Given the description of an element on the screen output the (x, y) to click on. 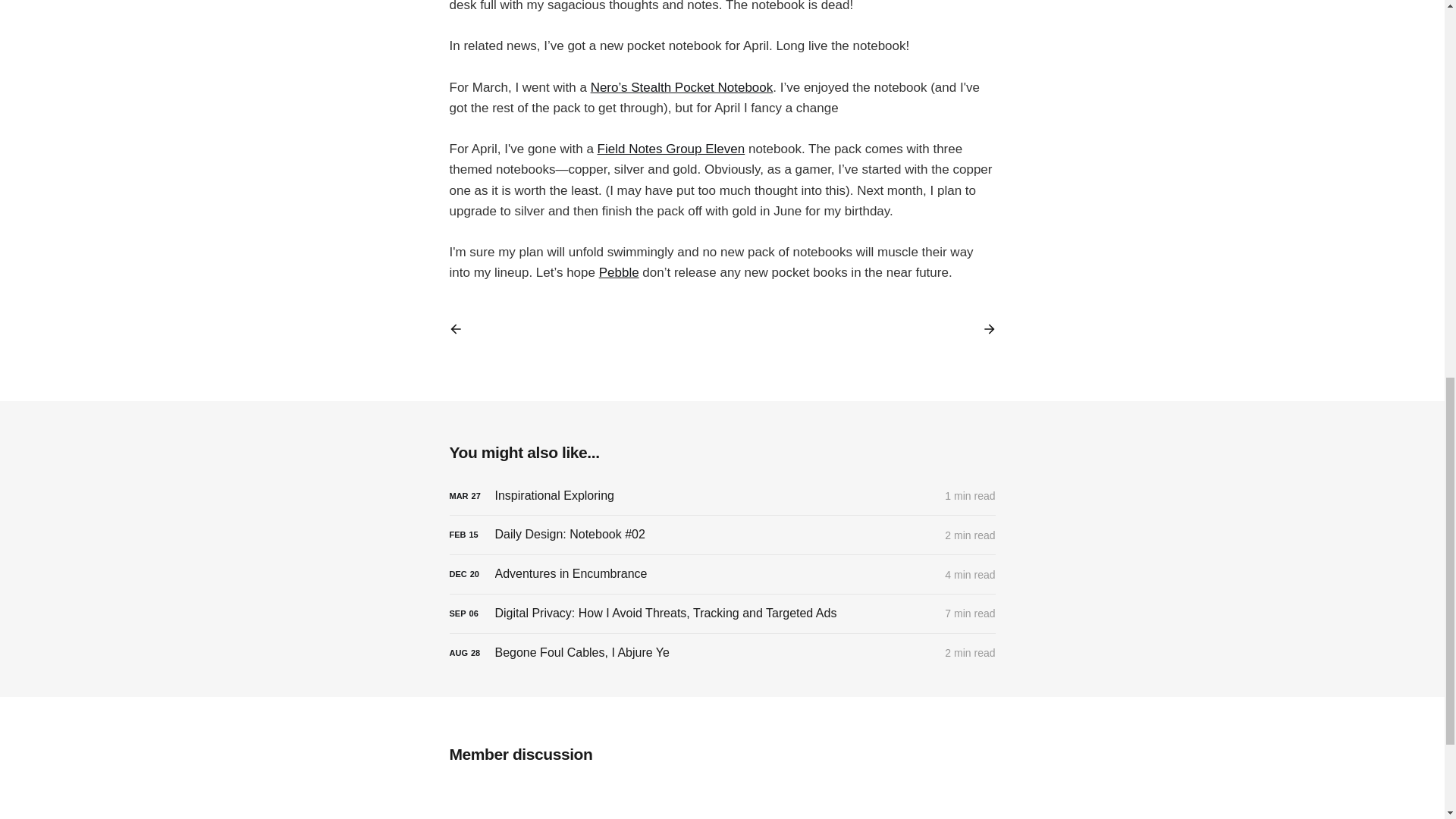
Field Notes Group Eleven (670, 148)
Pebble (618, 272)
